Given the description of an element on the screen output the (x, y) to click on. 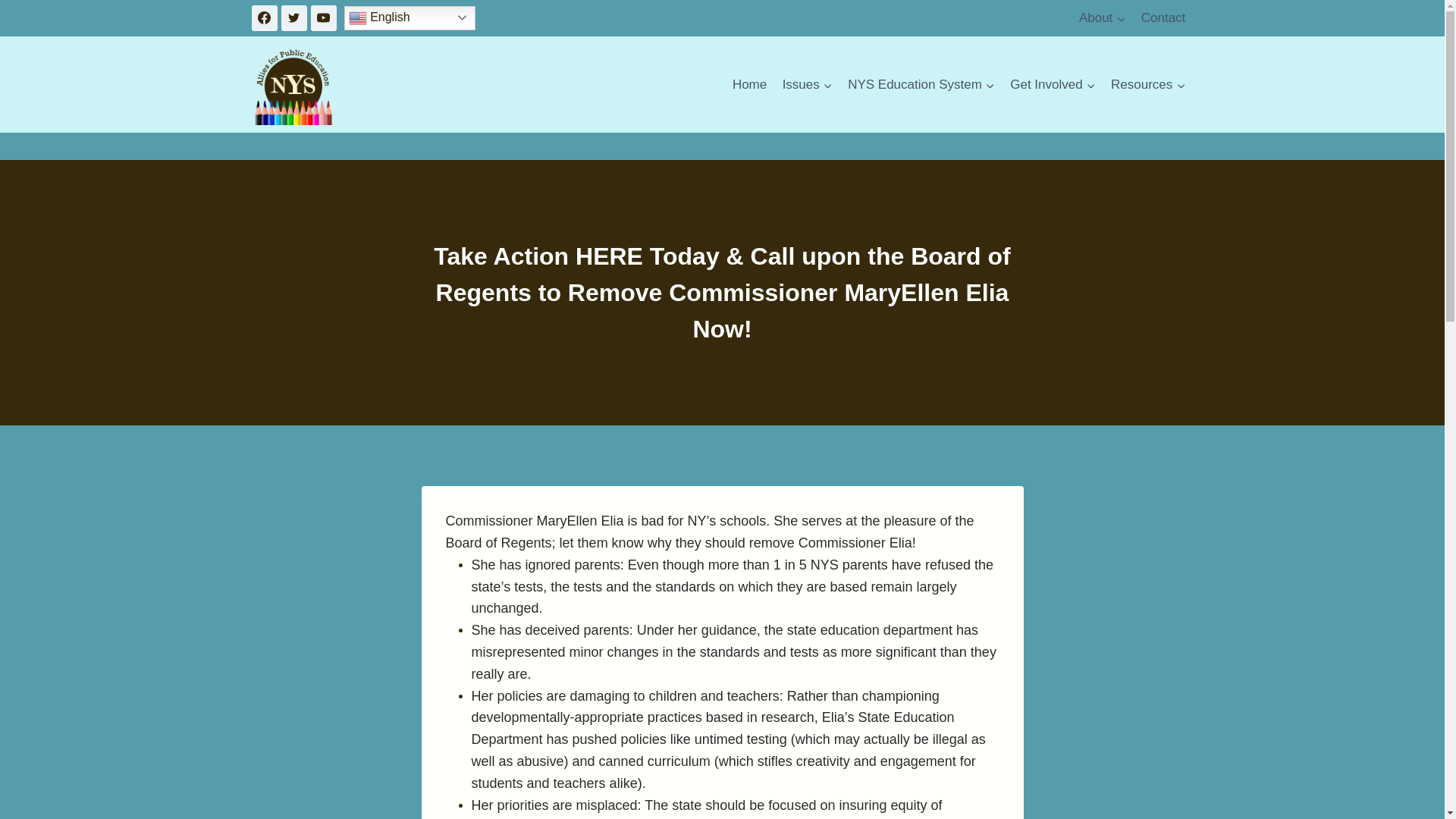
English (409, 17)
Get Involved (1053, 84)
About (1102, 18)
Contact (1163, 18)
Issues (807, 84)
NYS Education System (921, 84)
Home (749, 84)
